Given the description of an element on the screen output the (x, y) to click on. 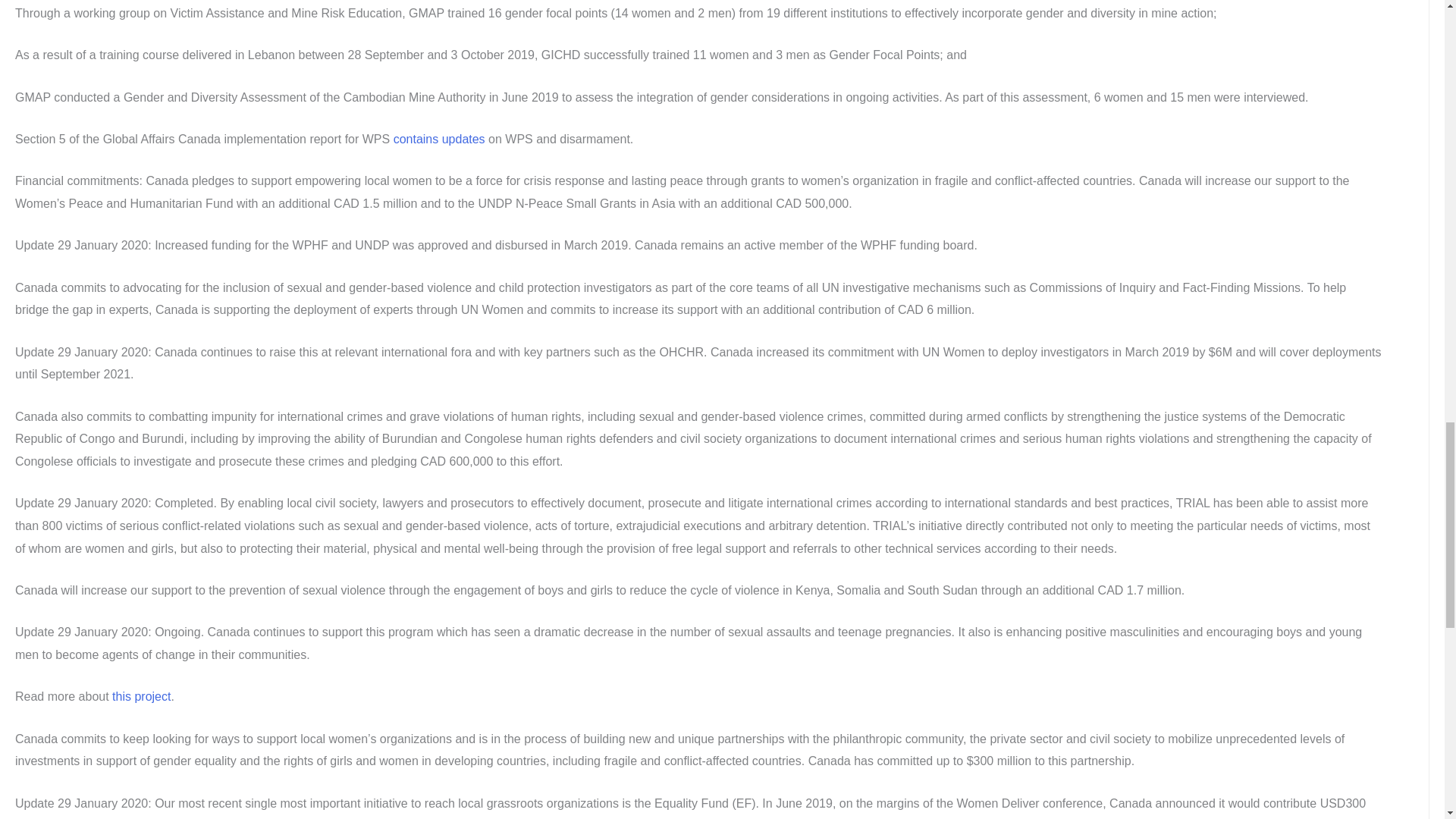
this project (141, 696)
contains updates (438, 138)
